Given the description of an element on the screen output the (x, y) to click on. 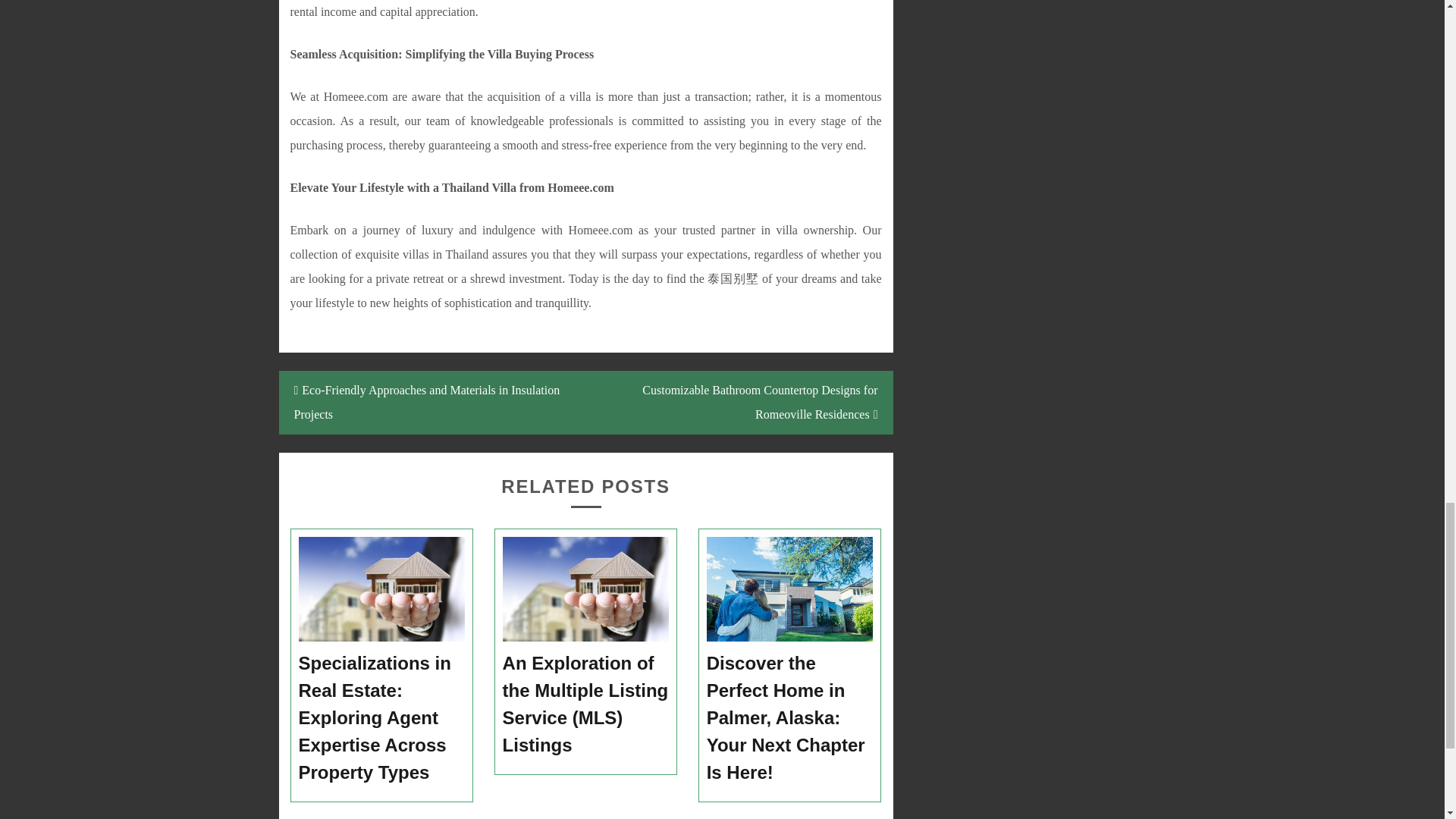
Eco-Friendly Approaches and Materials in Insulation Projects (432, 402)
